Given the description of an element on the screen output the (x, y) to click on. 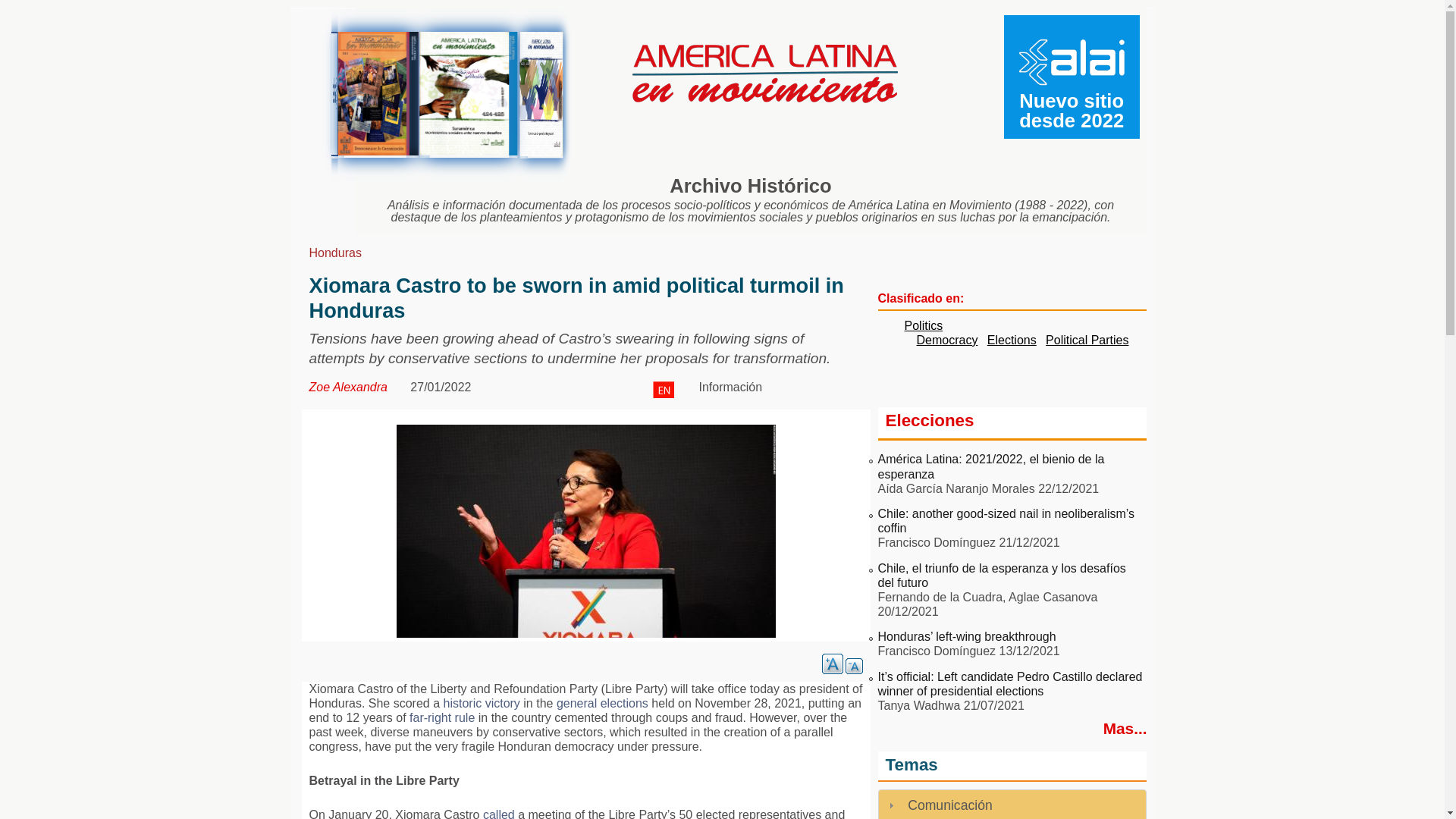
general elections (601, 703)
Zoe Alexandra (347, 386)
Honduras (334, 252)
Politics (923, 325)
Democracy (945, 339)
called (499, 813)
A (832, 663)
English (663, 389)
Elections (1011, 339)
far-right rule (441, 717)
